Given the description of an element on the screen output the (x, y) to click on. 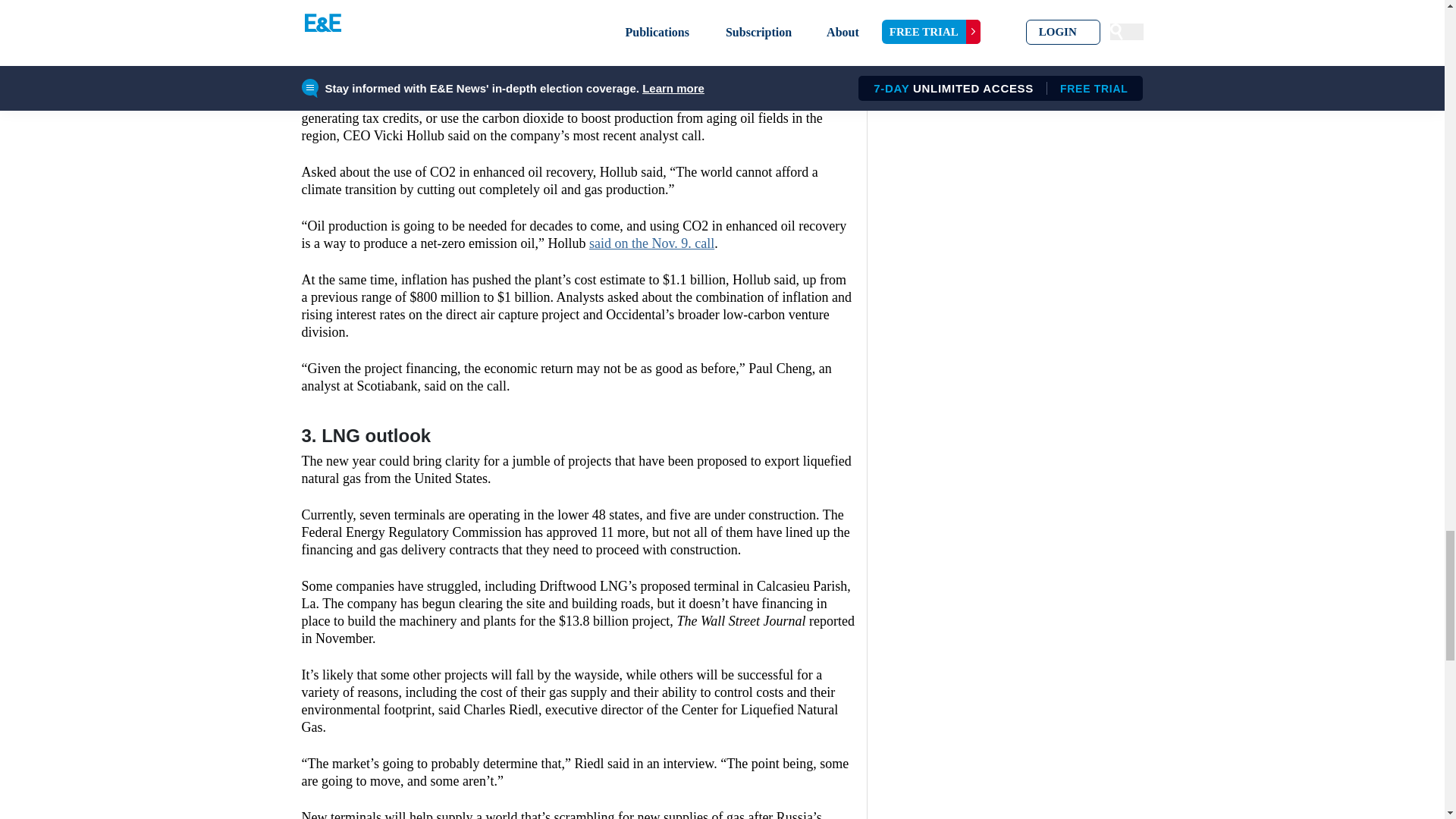
said on the Nov. 9. call (651, 242)
